Given the description of an element on the screen output the (x, y) to click on. 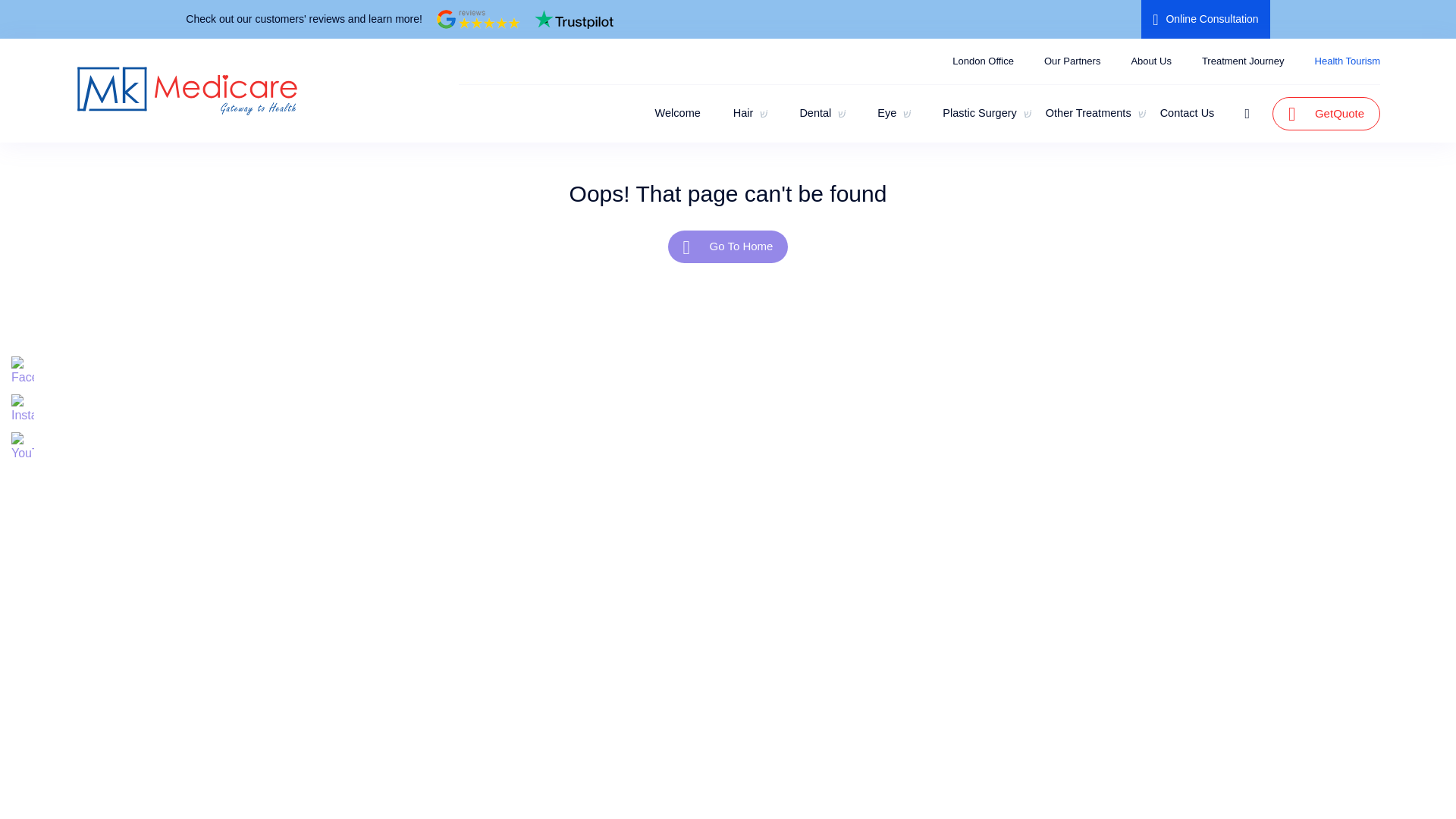
Dental (812, 114)
 Dental (812, 114)
Online Consultation (1205, 19)
Other Treatments (1094, 114)
Health Tourism (1347, 60)
Treatment Journey (1243, 60)
Plastic Surgery (977, 114)
Our Partners (1071, 60)
London Office (982, 60)
Plastic Surgery (977, 114)
